Given the description of an element on the screen output the (x, y) to click on. 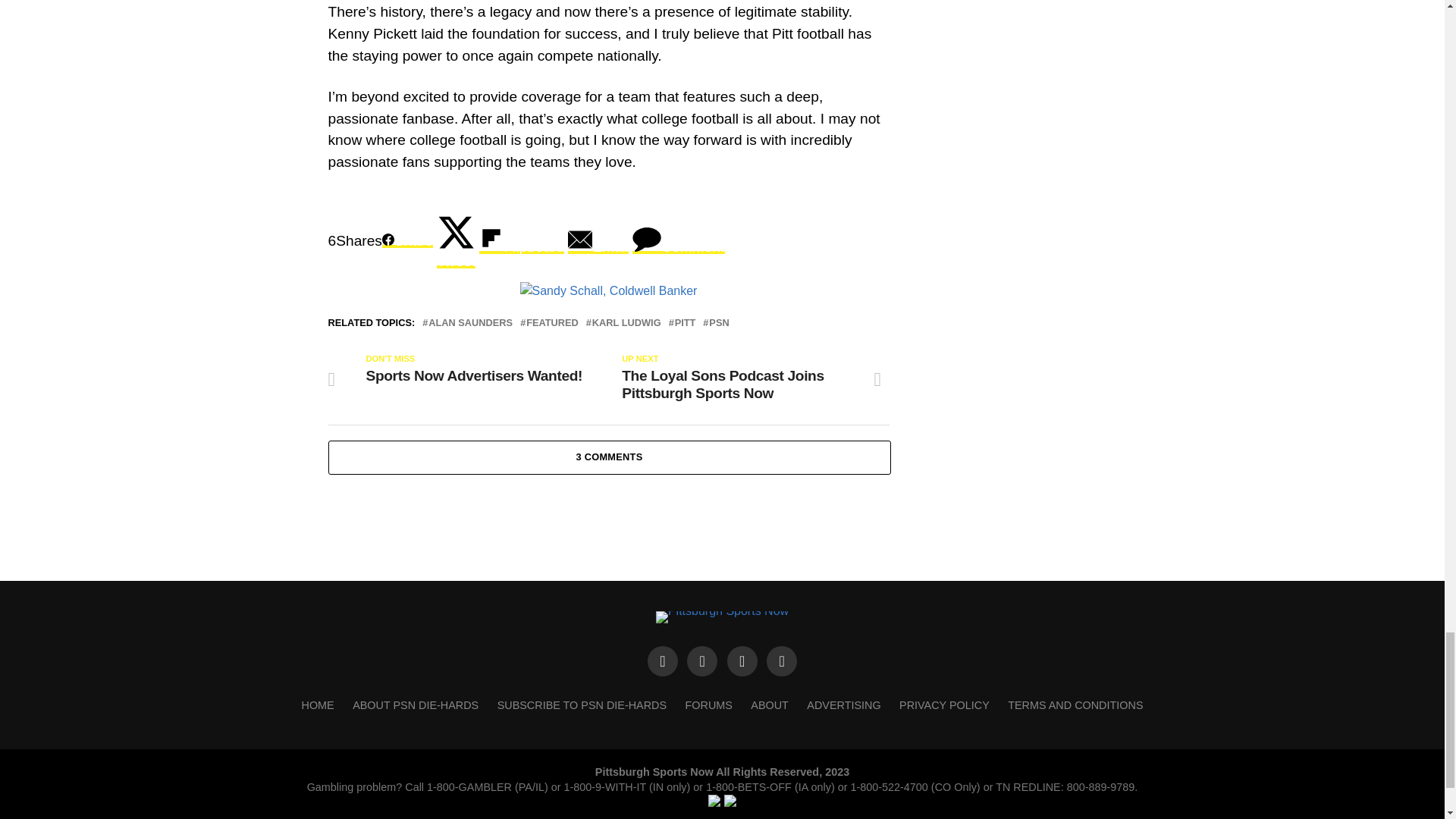
Share on Email (597, 240)
Share on Flipboard (521, 240)
Share on Share (406, 240)
Share on Comment (677, 240)
